Given the description of an element on the screen output the (x, y) to click on. 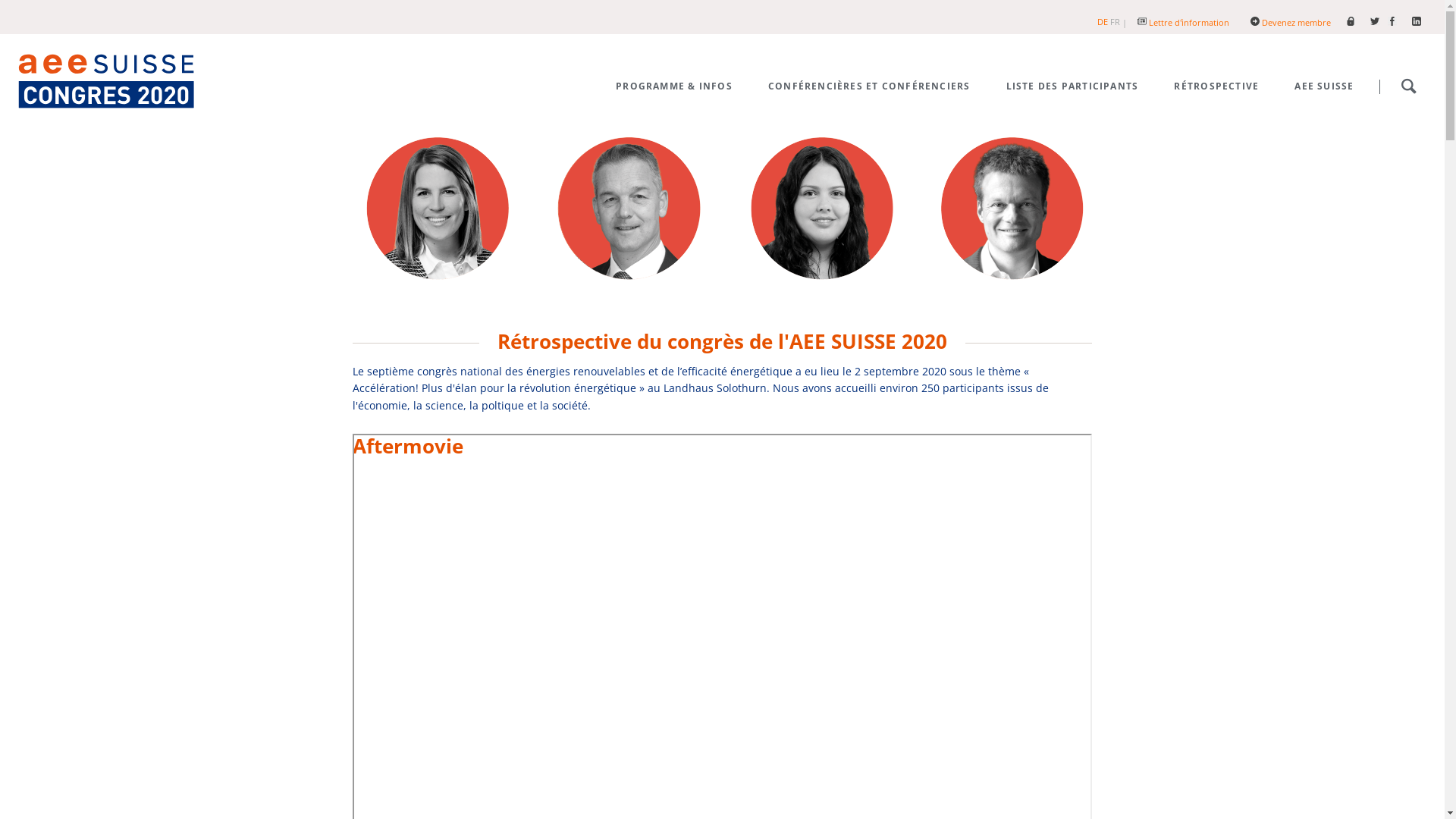
Aller au contenu Element type: text (1363, 65)
Login Element type: hover (1358, 22)
DE Element type: text (1102, 21)
AEE SUISSE Element type: text (1323, 85)
PROGRAMME & INFOS Element type: text (673, 85)
LISTE DES PARTICIPANTS Element type: text (1072, 85)
Devenez membre Element type: text (1298, 22)
Rechercher Element type: text (1408, 85)
